Given the description of an element on the screen output the (x, y) to click on. 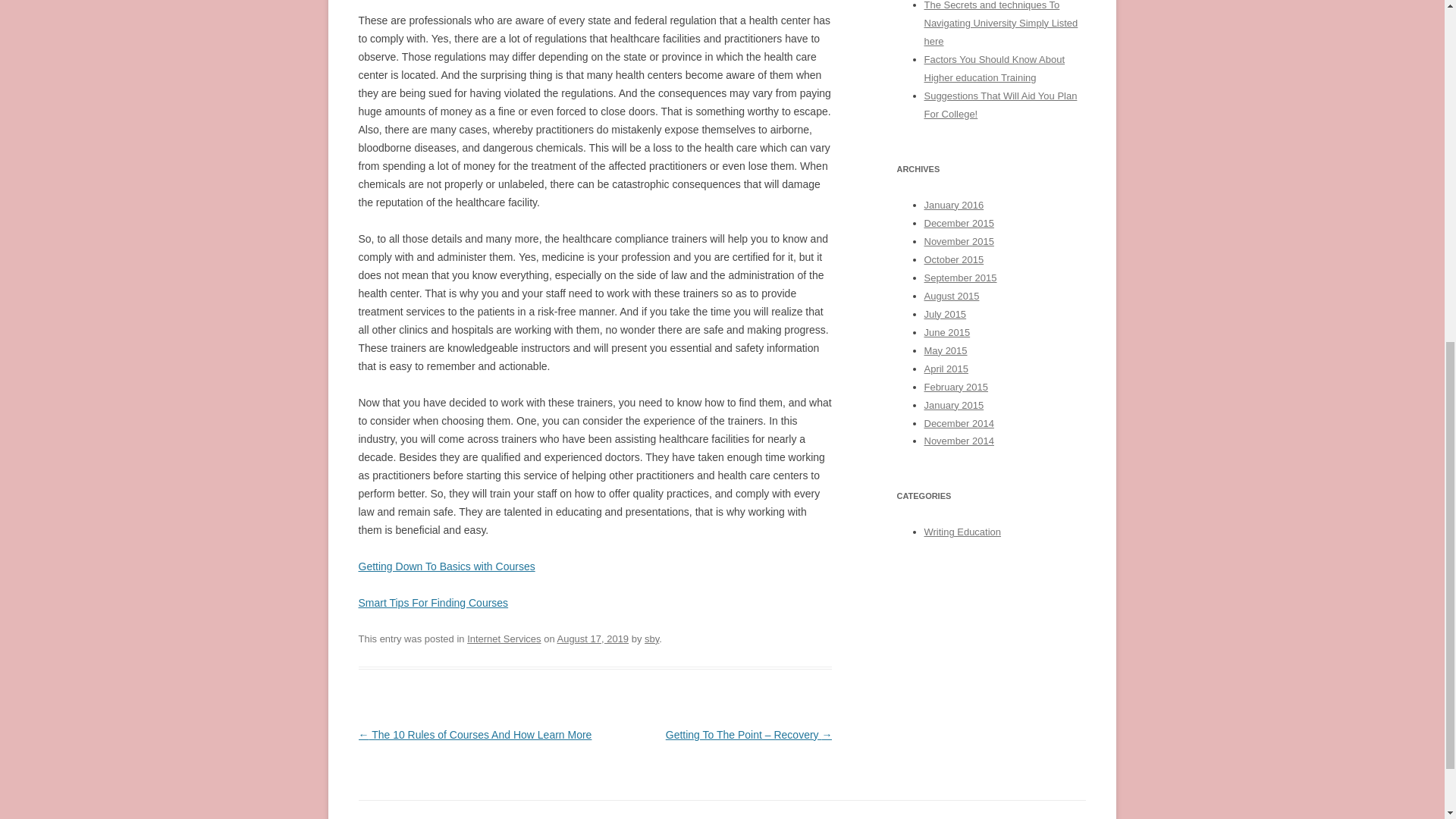
July 2015 (944, 314)
Factors You Should Know About Higher education Training (993, 68)
October 2015 (953, 259)
December 2015 (957, 223)
sby (652, 638)
Getting Down To Basics with Courses (446, 566)
8:13 pm (592, 638)
Suggestions That Will Aid You Plan For College! (1000, 104)
August 17, 2019 (592, 638)
April 2015 (945, 368)
May 2015 (944, 350)
June 2015 (946, 332)
November 2015 (957, 241)
November 2014 (957, 440)
View all posts by sby (652, 638)
